Given the description of an element on the screen output the (x, y) to click on. 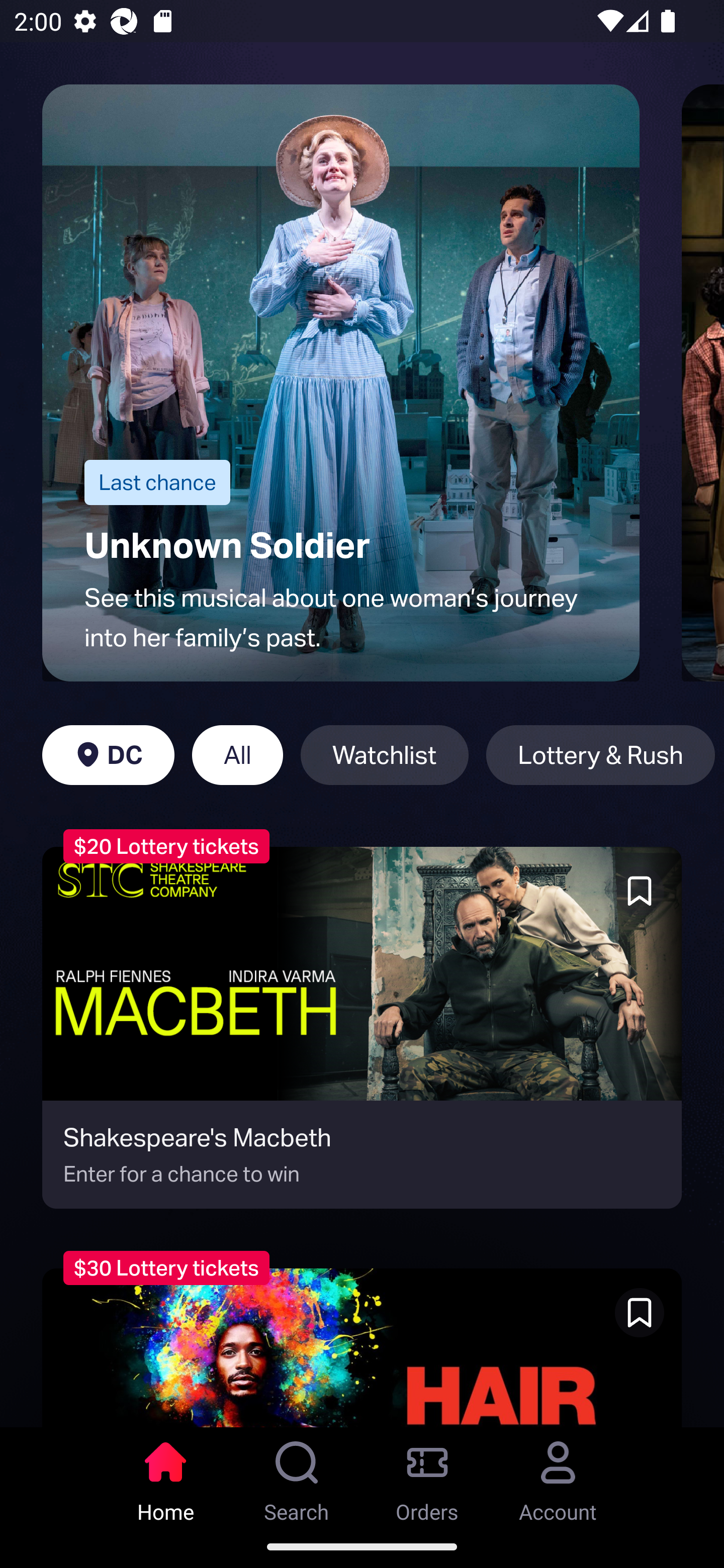
DC (107, 754)
All (237, 754)
Watchlist (384, 754)
Lottery & Rush (600, 754)
Shakespeare's Macbeth Enter for a chance to win  (361, 1027)
Search (296, 1475)
Orders (427, 1475)
Account (558, 1475)
